Given the description of an element on the screen output the (x, y) to click on. 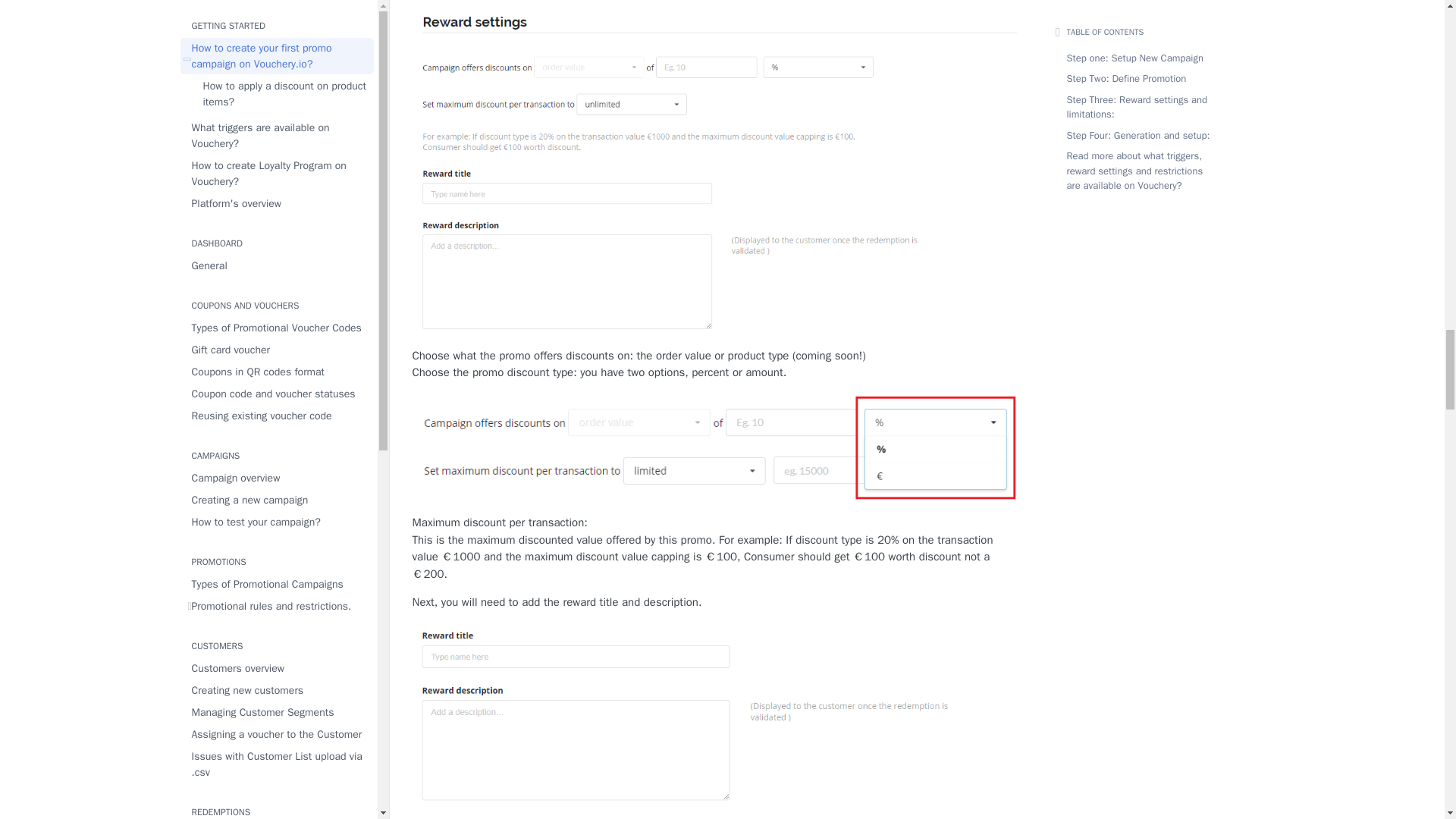
discount type.png (715, 448)
reward title and description.png (715, 714)
